Given the description of an element on the screen output the (x, y) to click on. 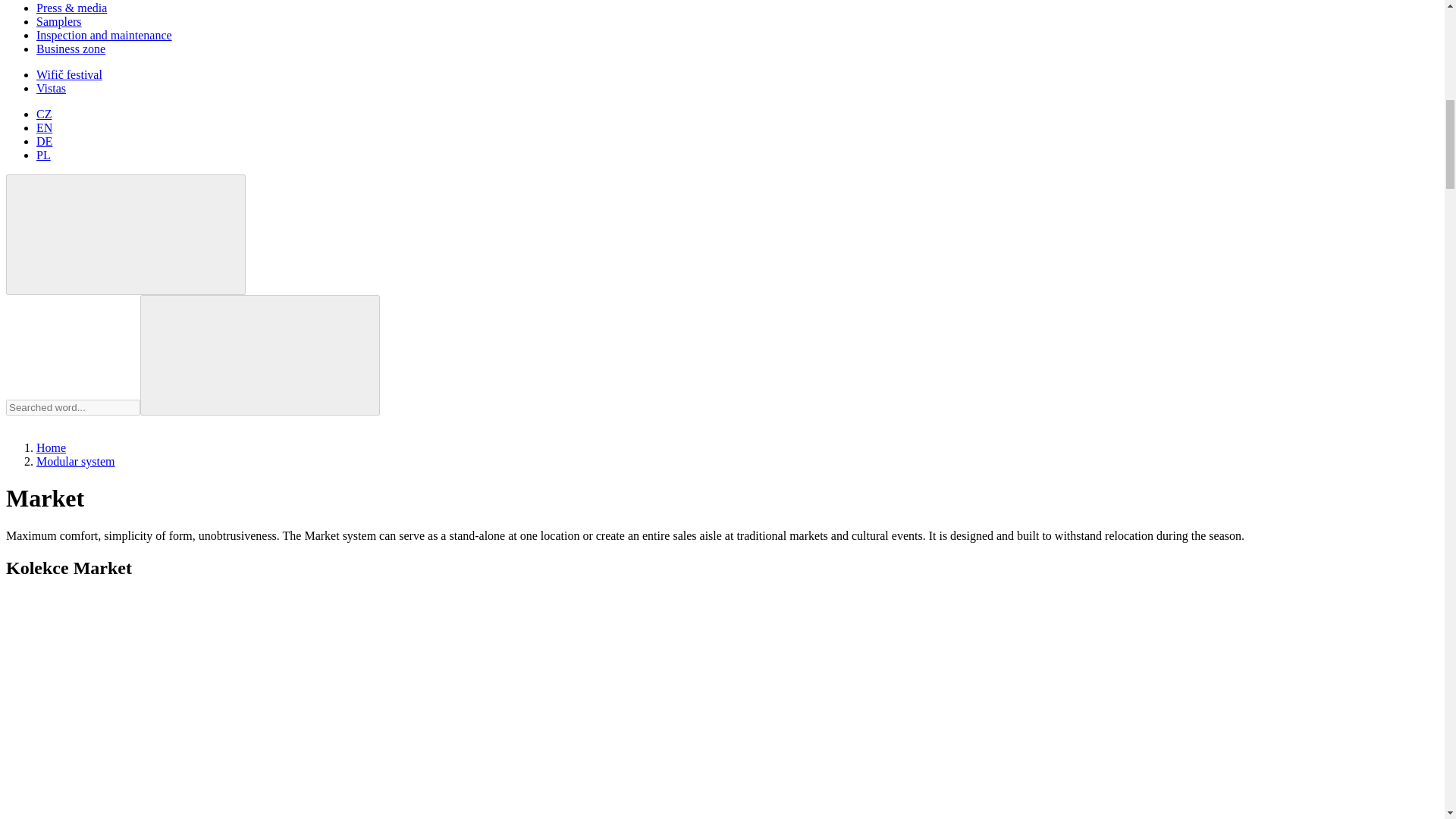
Business zone (70, 48)
DE (44, 141)
CZ (43, 113)
Inspection and maintenance (103, 34)
Vistas (50, 88)
PL (43, 154)
Searched word (259, 354)
EN (44, 127)
Close (125, 234)
Samplers (58, 21)
